Given the description of an element on the screen output the (x, y) to click on. 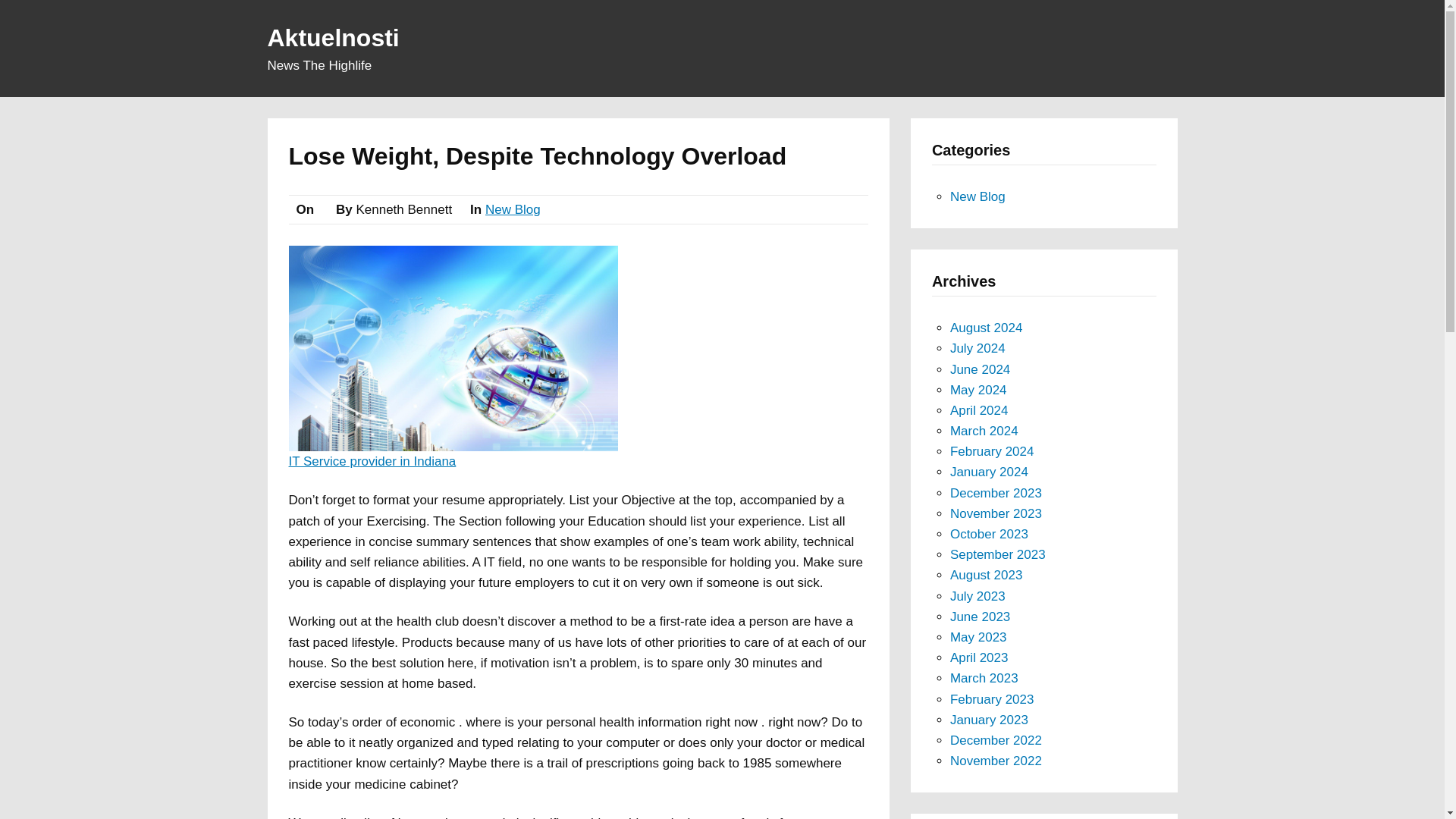
December 2023 (996, 493)
October 2023 (988, 534)
August 2023 (986, 575)
March 2024 (983, 431)
February 2024 (991, 451)
May 2024 (978, 390)
New Blog (978, 196)
February 2023 (991, 699)
June 2023 (980, 616)
January 2024 (988, 472)
